Given the description of an element on the screen output the (x, y) to click on. 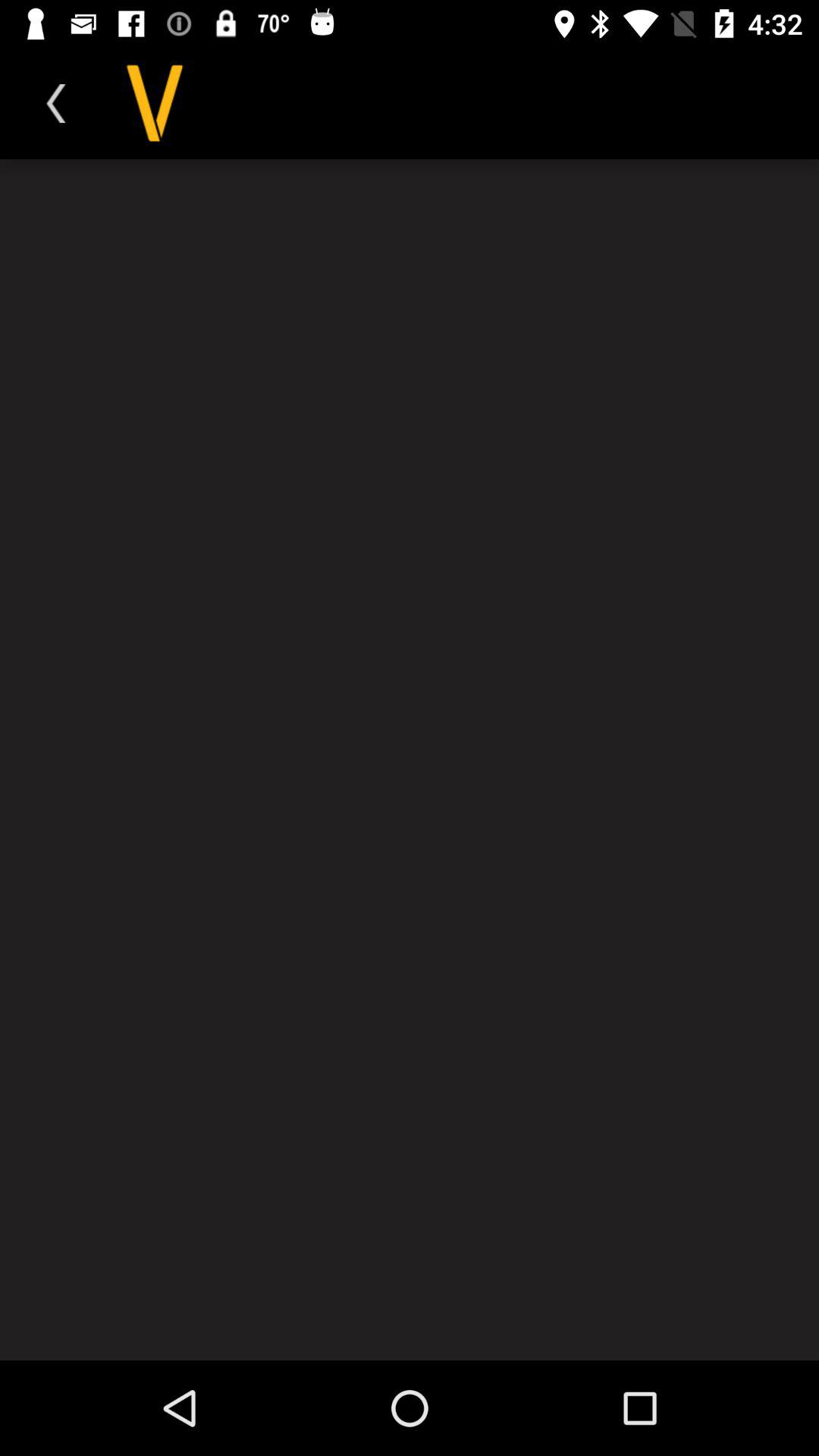
launch item at the center (409, 759)
